Given the description of an element on the screen output the (x, y) to click on. 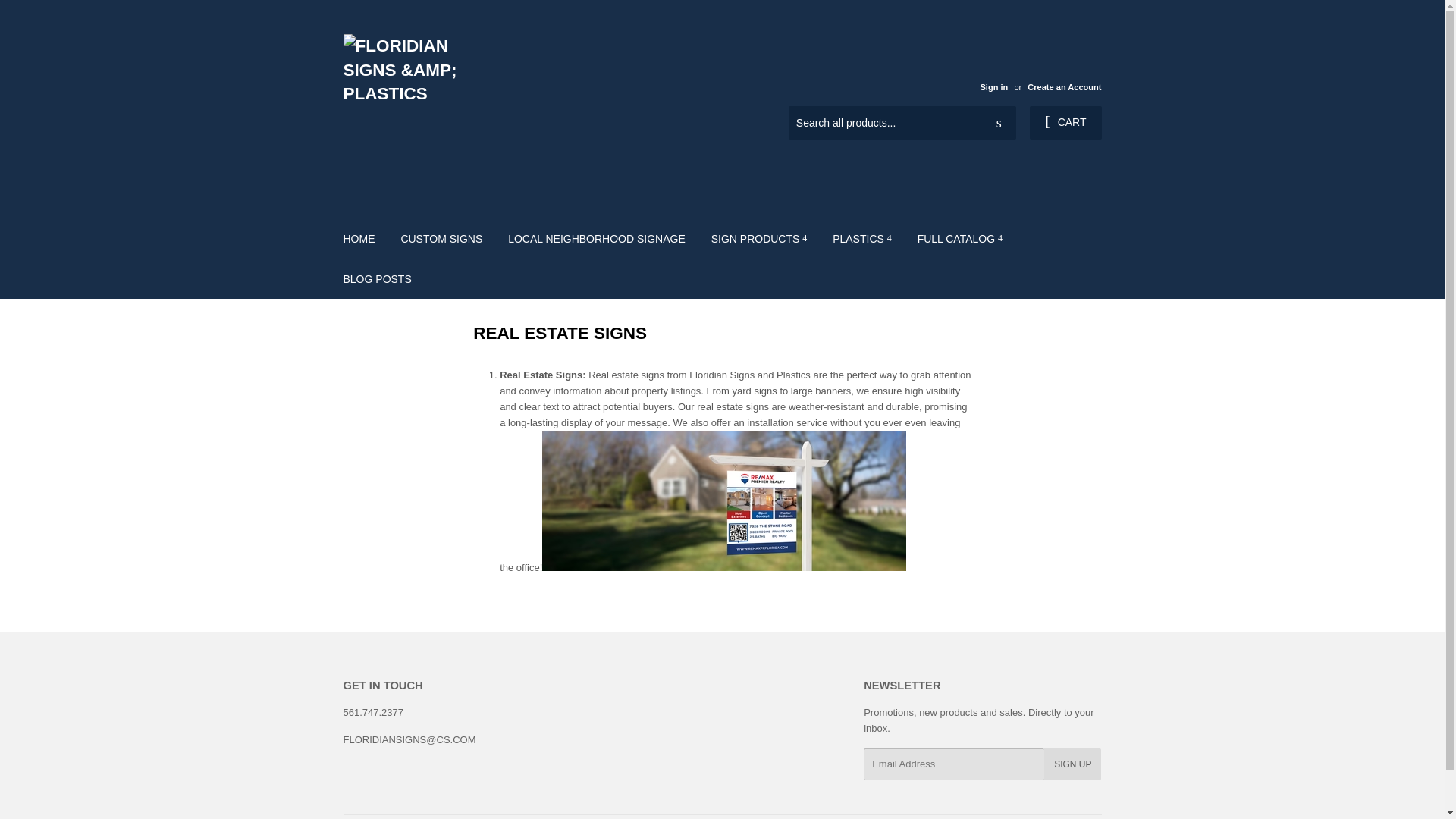
CUSTOM SIGNS (440, 238)
Sign in (993, 86)
CART (1064, 122)
Create an Account (1063, 86)
SIGN PRODUCTS (759, 238)
LOCAL NEIGHBORHOOD SIGNAGE (596, 238)
HOME (359, 238)
Search (998, 123)
